Given the description of an element on the screen output the (x, y) to click on. 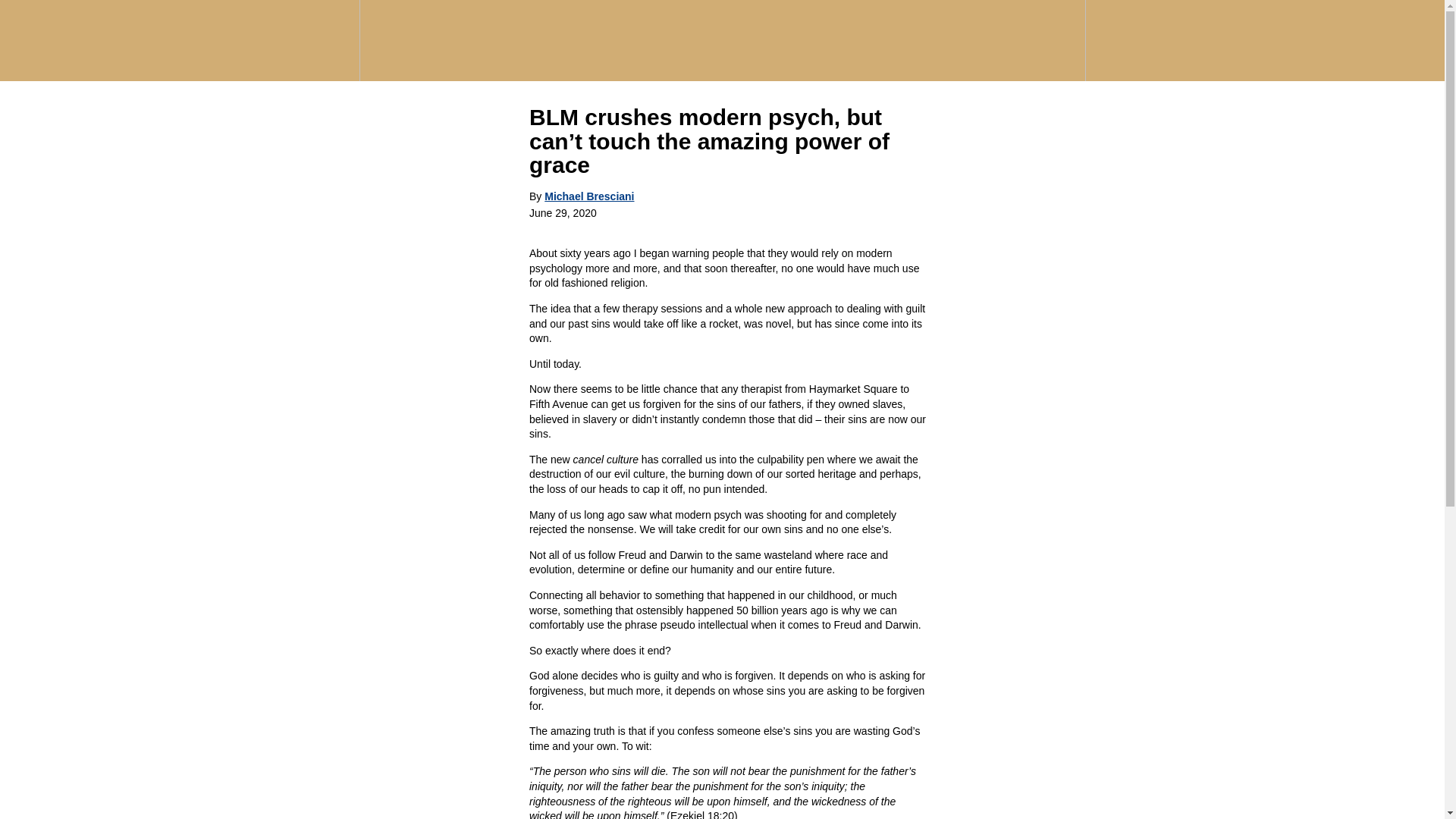
Michael Bresciani (588, 195)
